Given the description of an element on the screen output the (x, y) to click on. 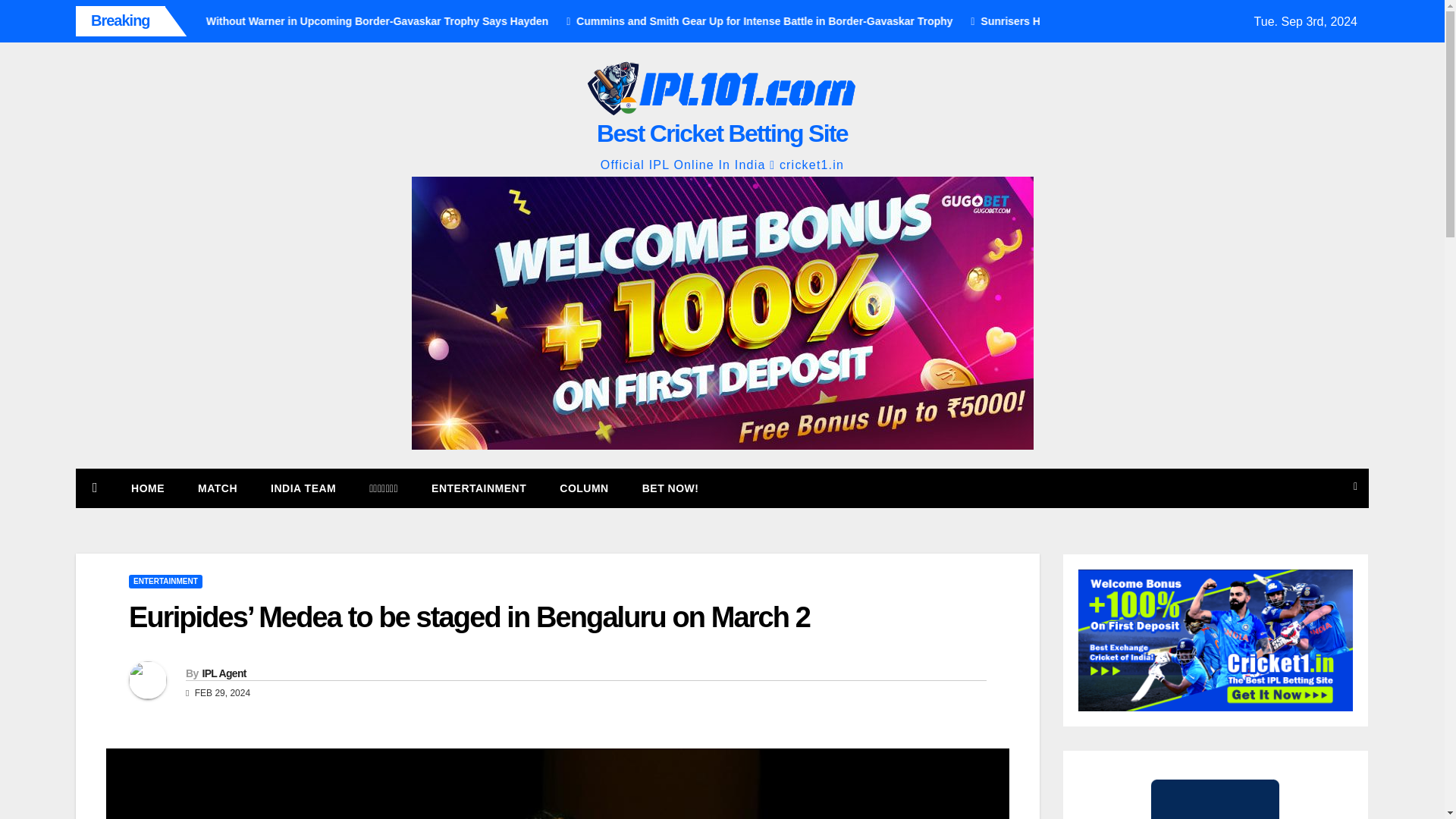
Bet Now! (671, 487)
Entertainment (478, 487)
IPL Agent (224, 673)
ENTERTAINMENT (478, 487)
ENTERTAINMENT (165, 581)
INDIA TEAM (302, 487)
Best Cricket Betting Site (721, 133)
Column (583, 487)
MATCH (216, 487)
